Given the description of an element on the screen output the (x, y) to click on. 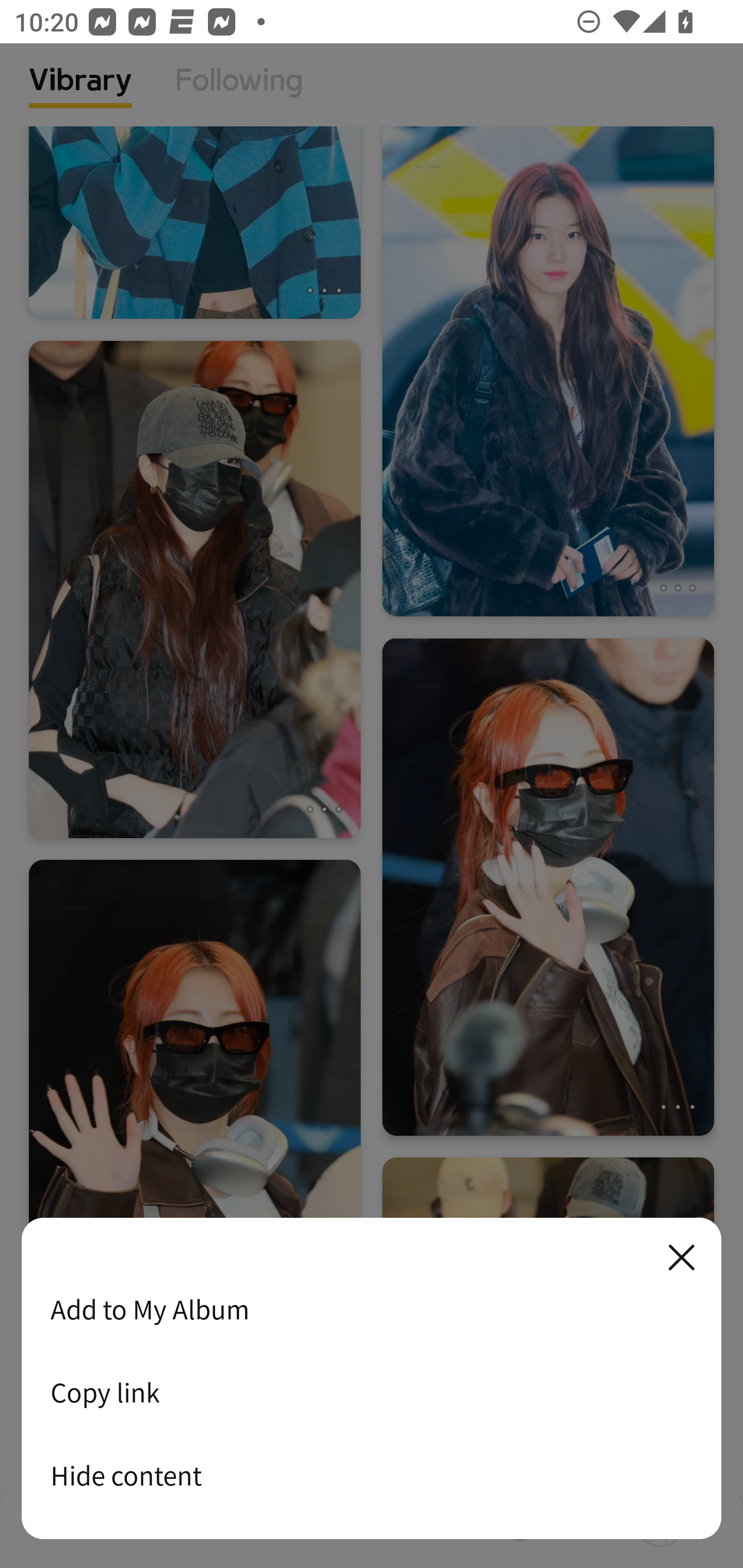
Add to My Album (371, 1308)
Copy link (371, 1391)
Hide content (371, 1474)
